Given the description of an element on the screen output the (x, y) to click on. 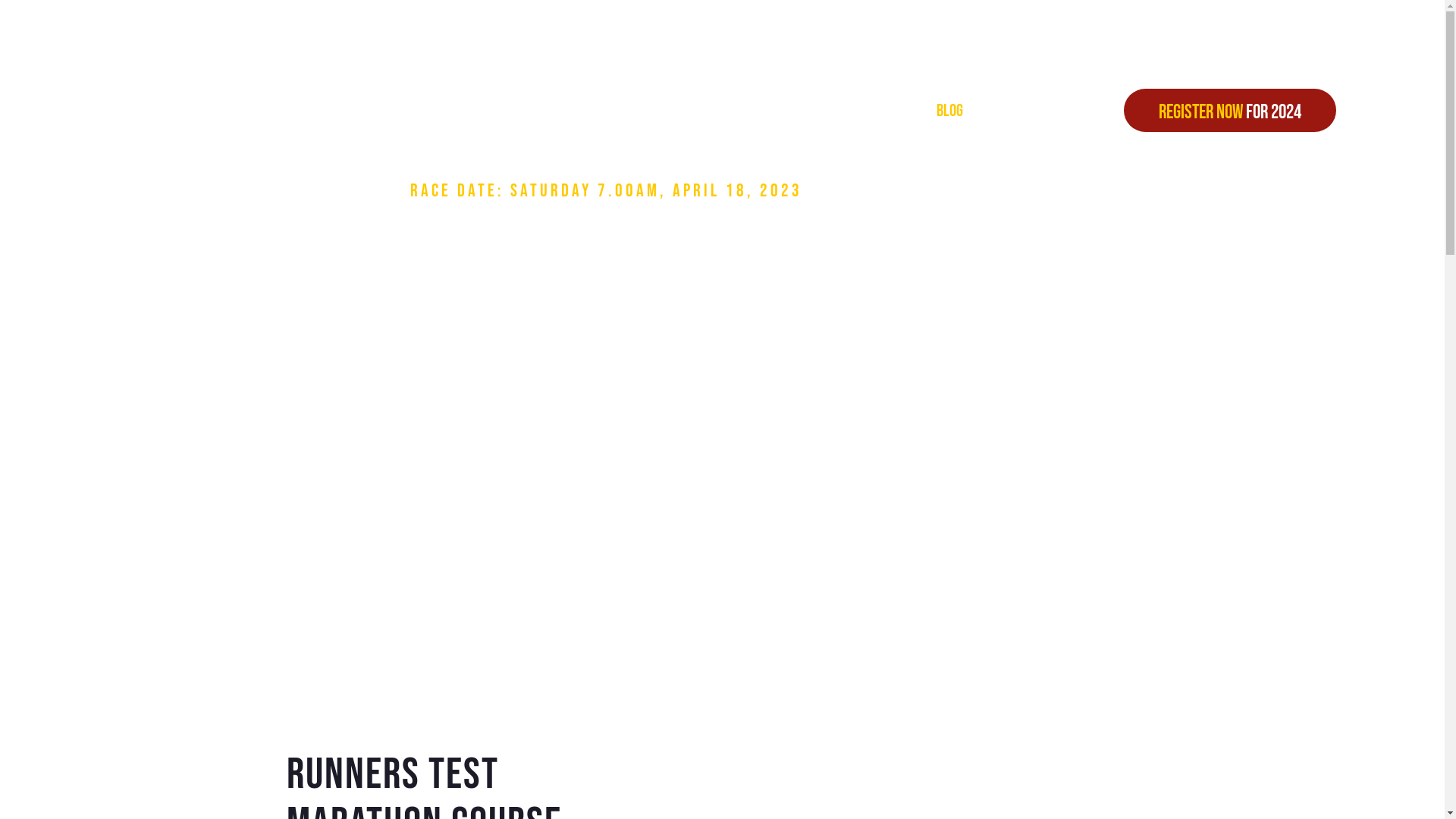
Volunteers Element type: text (787, 109)
DCG Race Element type: text (592, 109)
FAQ Element type: text (878, 109)
Blog Element type: text (949, 109)
REGISTER NOW FOR 2024 Element type: text (1229, 109)
Contact Element type: text (1034, 109)
Home Element type: text (504, 109)
Events Element type: text (686, 109)
